Given the description of an element on the screen output the (x, y) to click on. 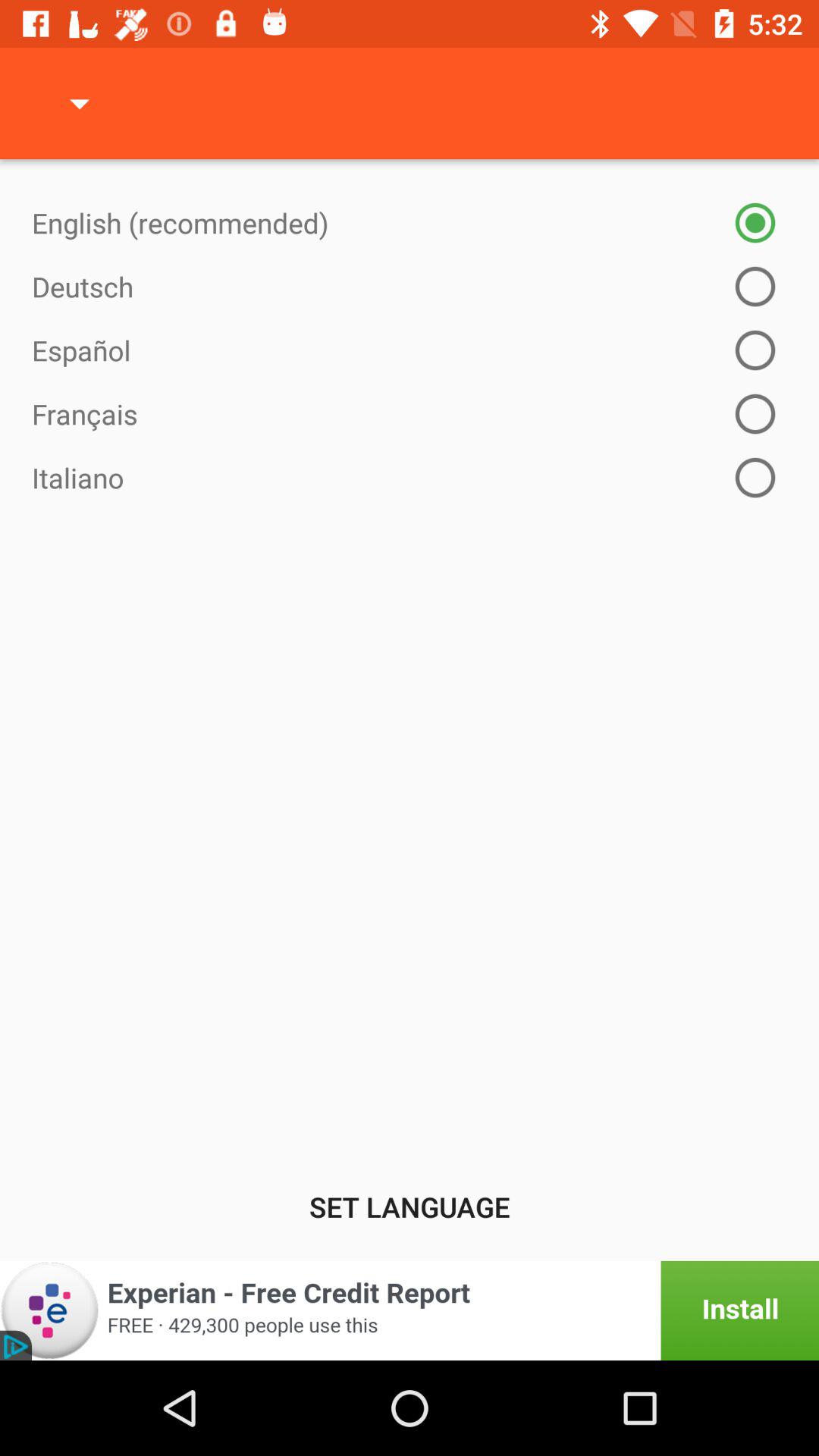
click the item at the top left corner (79, 103)
